Given the description of an element on the screen output the (x, y) to click on. 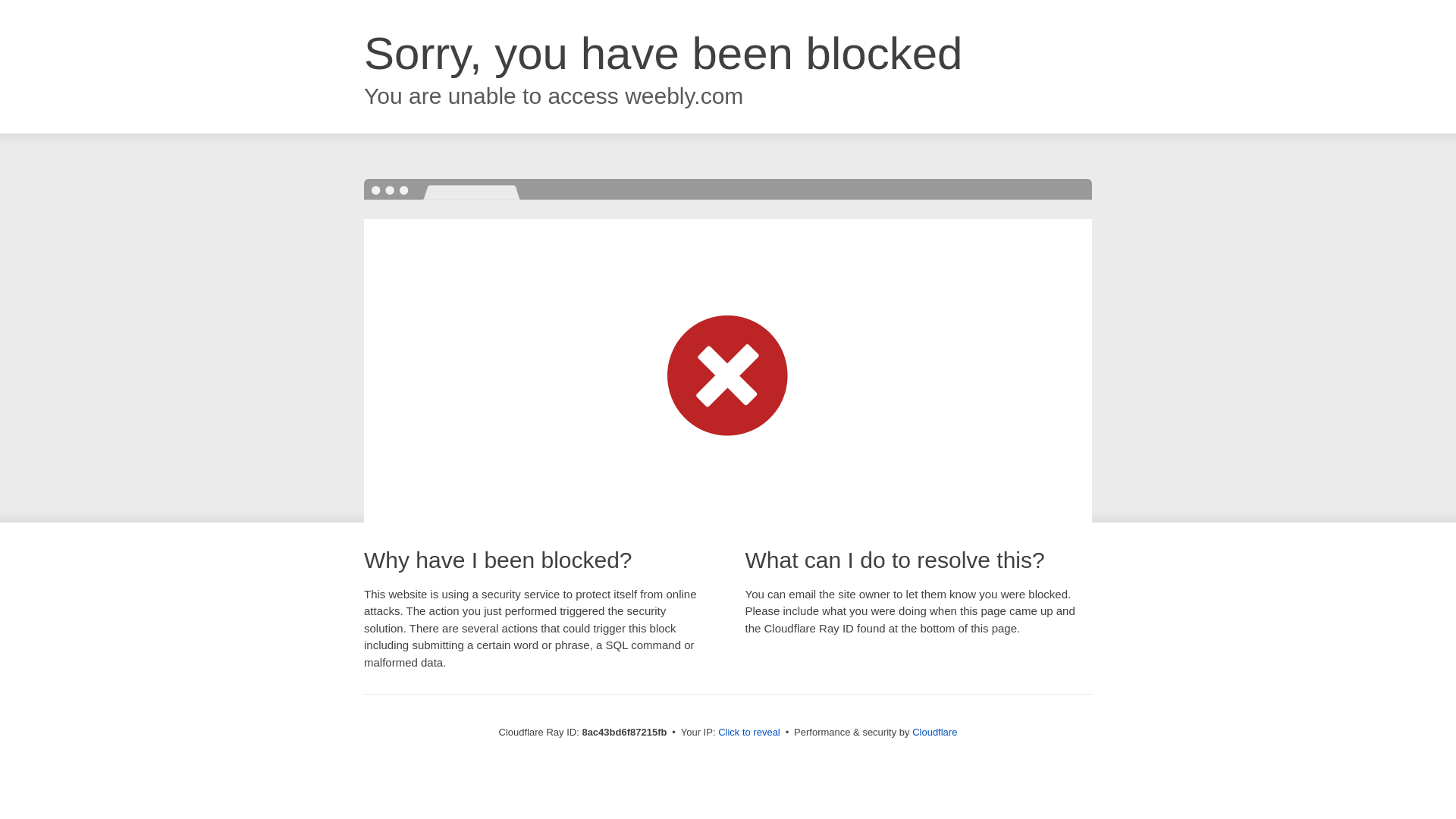
Cloudflare (934, 731)
Click to reveal (748, 732)
